Given the description of an element on the screen output the (x, y) to click on. 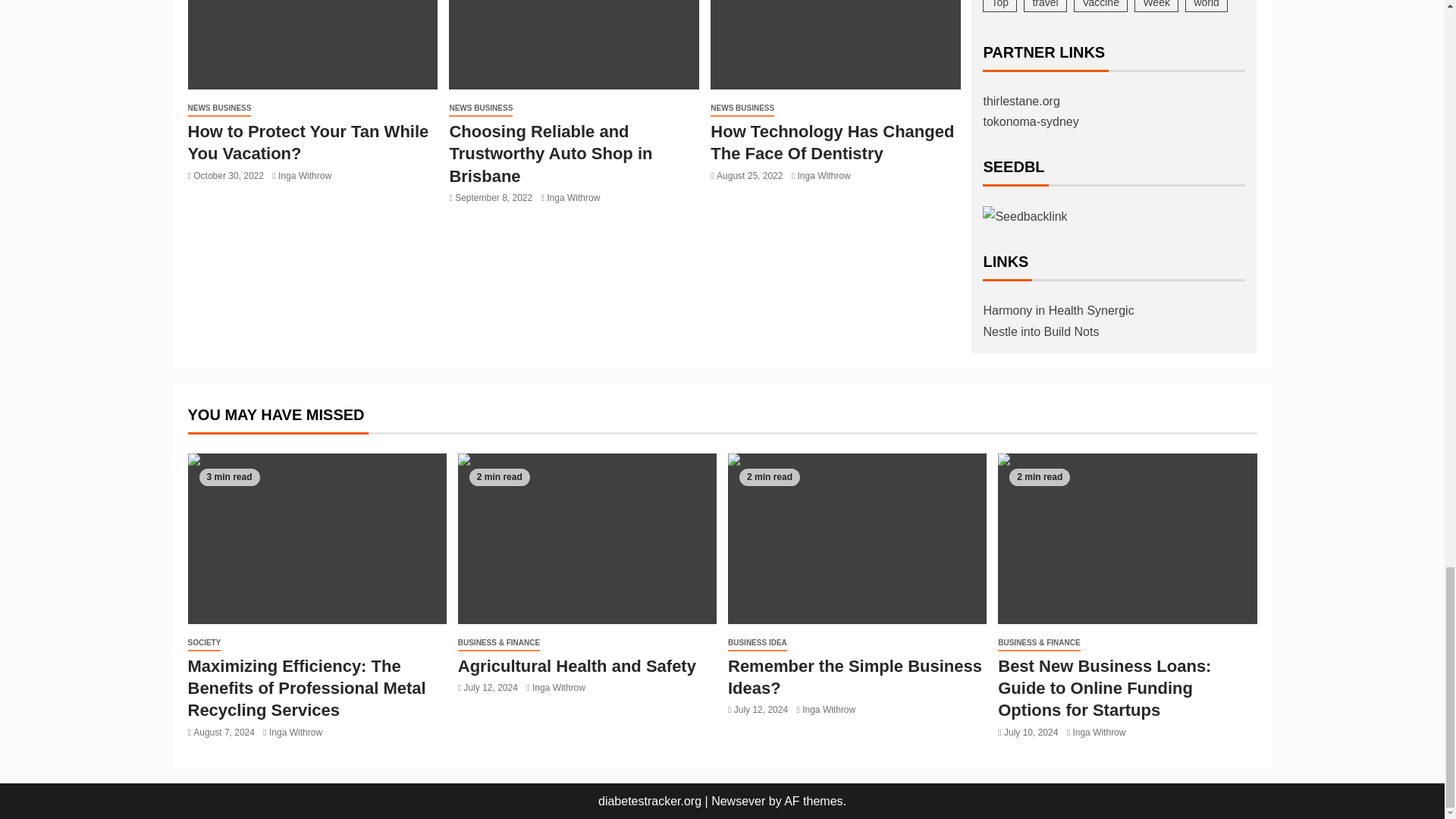
How Technology Has Changed The Face Of Dentistry (835, 44)
Inga Withrow (304, 175)
Choosing Reliable and Trustworthy Auto Shop in Brisbane (573, 44)
NEWS BUSINESS (219, 108)
How to Protect Your Tan While You Vacation? (308, 142)
